Given the description of an element on the screen output the (x, y) to click on. 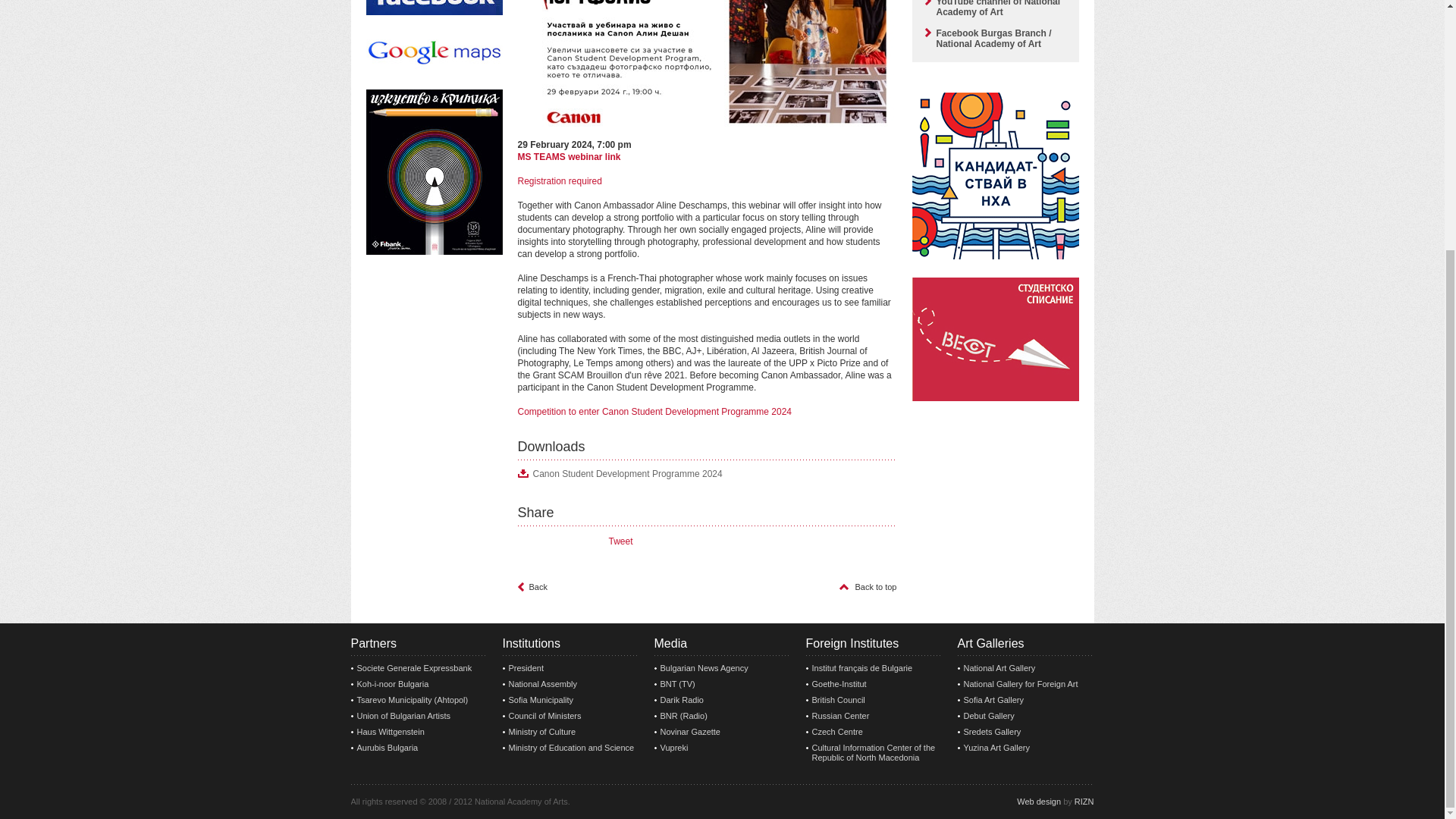
Koh-i-noor Bulgaria (418, 684)
Union of Bulgarian Artists (418, 716)
Partners (418, 647)
